Given the description of an element on the screen output the (x, y) to click on. 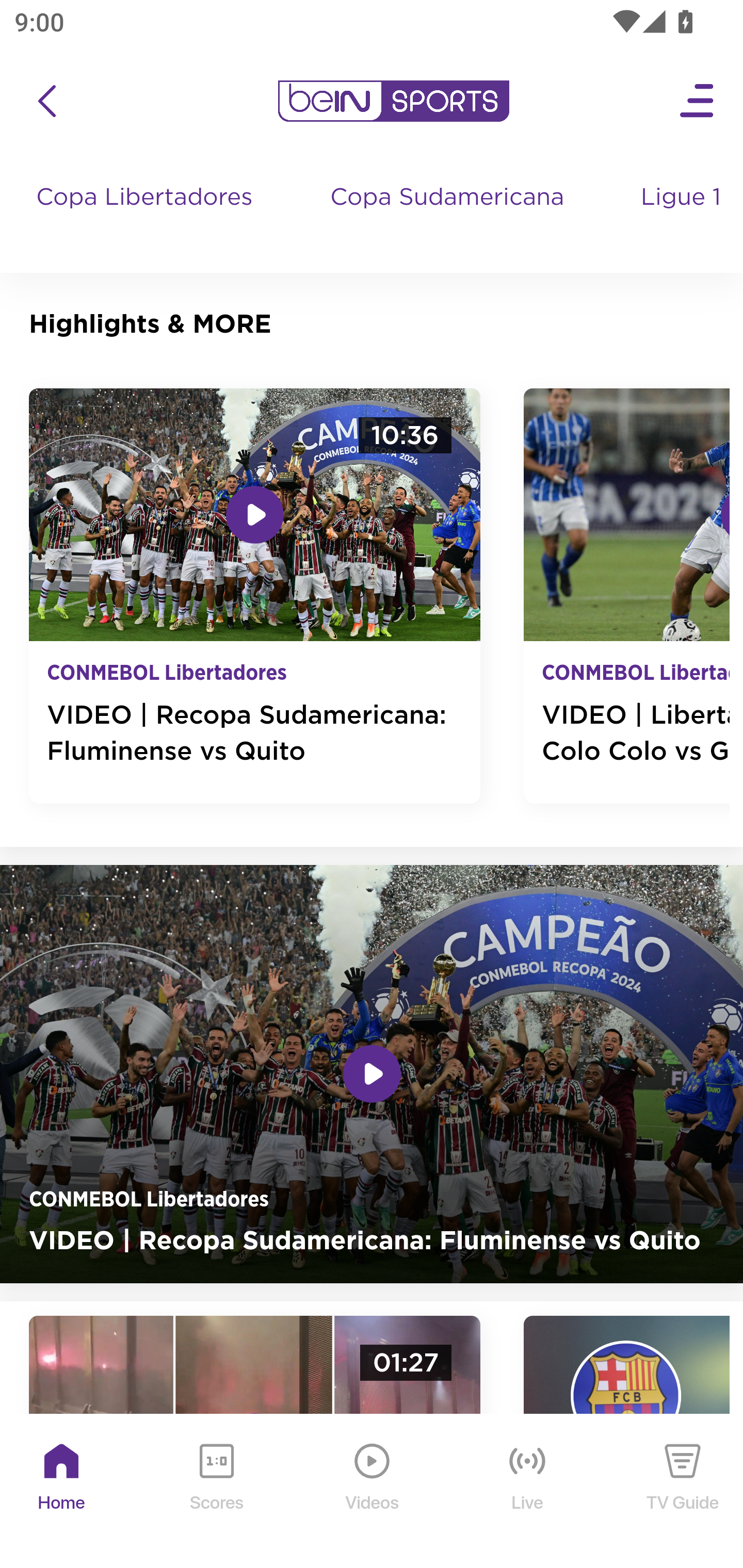
en-us?platform=mobile_android bein logo (392, 101)
icon back (46, 101)
Open Menu Icon (697, 101)
Copa Libertadores (146, 216)
Copa Sudamericana (448, 216)
Ligue 1 (682, 216)
Scores Scores Icon Scores (216, 1491)
Videos Videos Icon Videos (372, 1491)
TV Guide TV Guide Icon TV Guide (682, 1491)
